Given the description of an element on the screen output the (x, y) to click on. 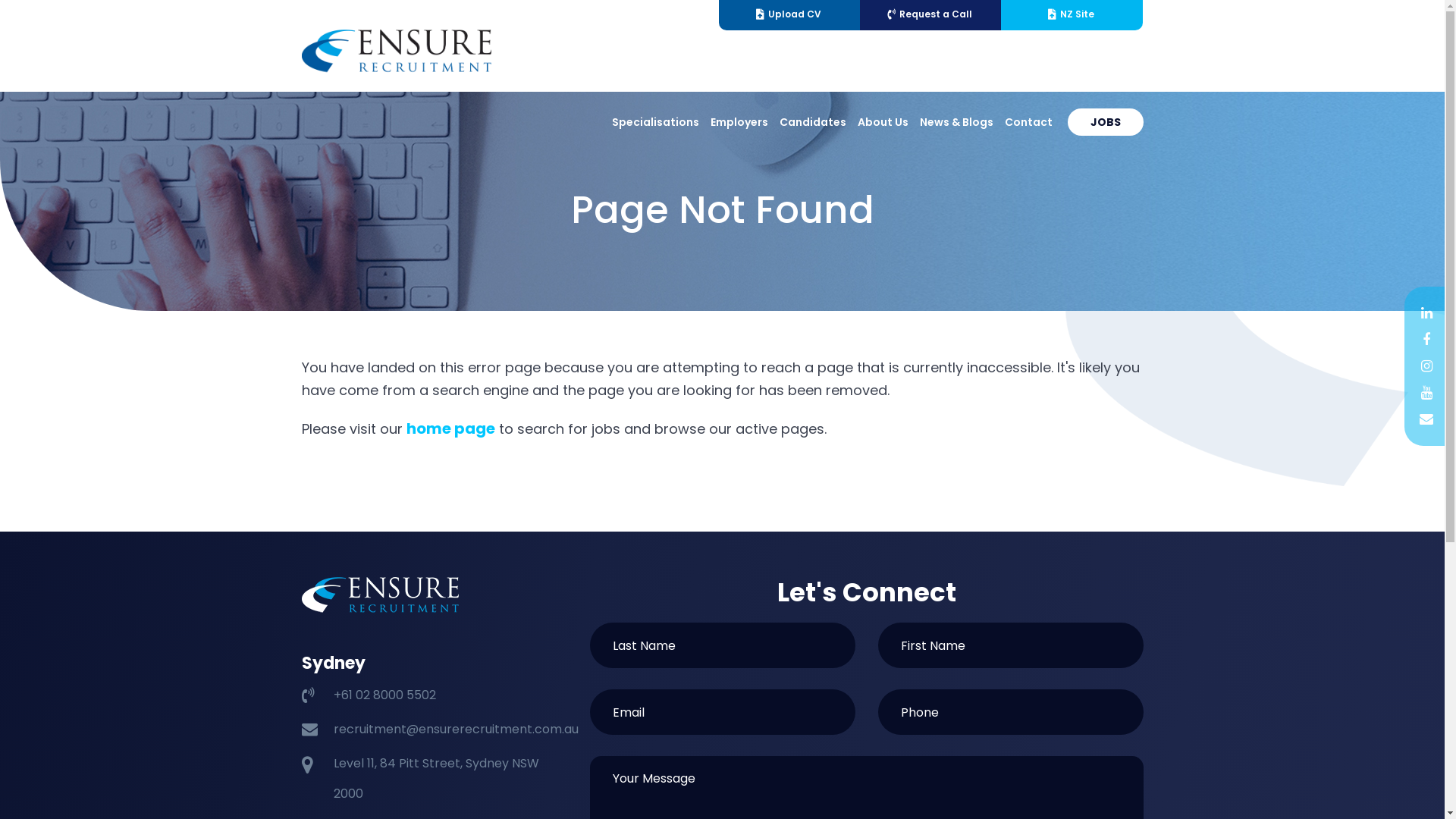
News & Blogs Element type: text (955, 121)
Employers Element type: text (738, 121)
JOBS Element type: text (1105, 121)
Specialisations Element type: text (654, 121)
NZ Site Element type: text (1071, 15)
recruitment@ensurerecruitment.com.au Element type: text (455, 728)
About Us Element type: text (881, 121)
Contact Element type: text (1027, 121)
Upload CV Element type: text (788, 15)
+61 02 8000 5502 Element type: text (384, 694)
home page Element type: text (450, 428)
Candidates Element type: text (812, 121)
Request a Call Element type: text (930, 15)
